Given the description of an element on the screen output the (x, y) to click on. 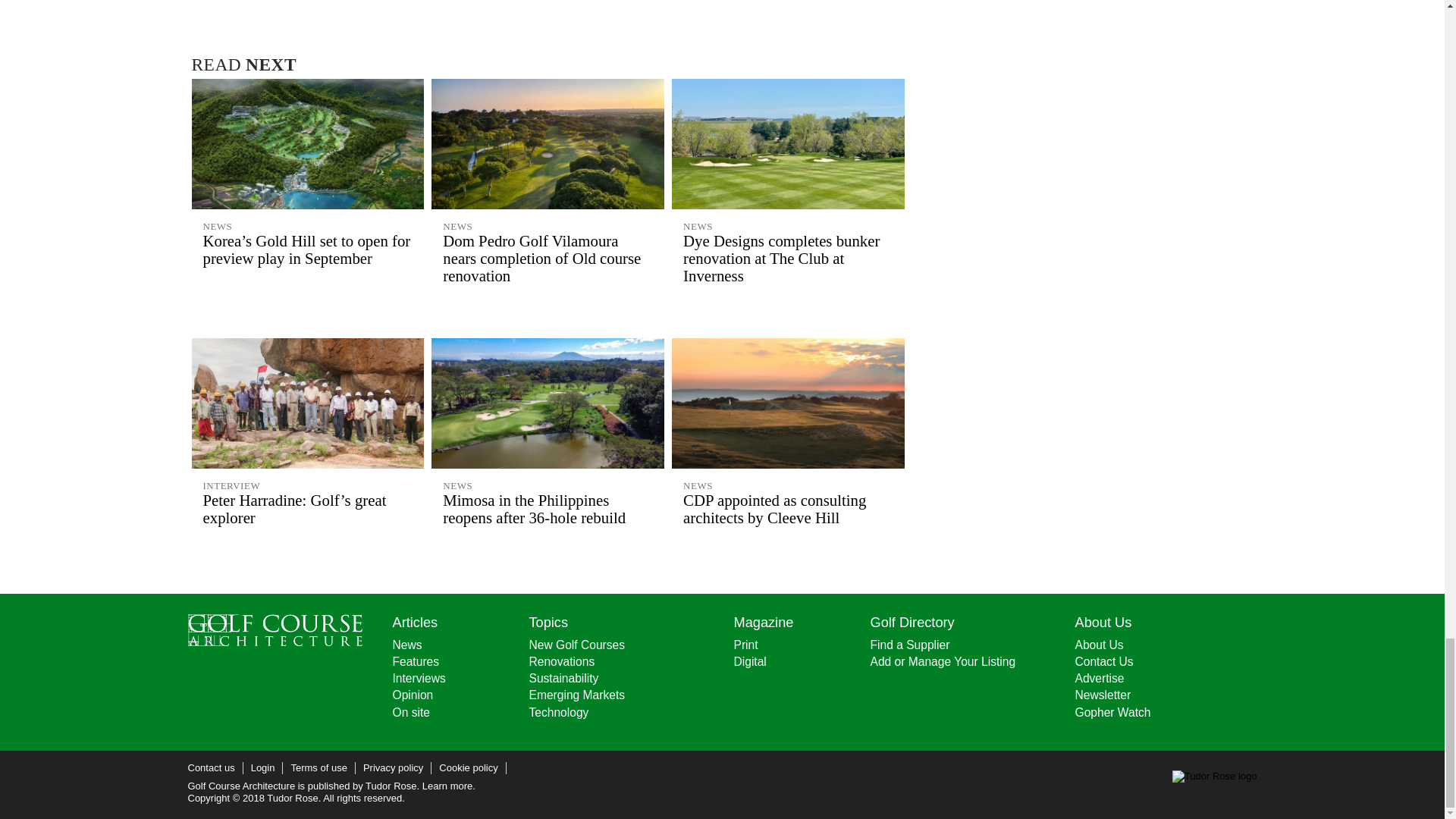
Login (262, 767)
